Given the description of an element on the screen output the (x, y) to click on. 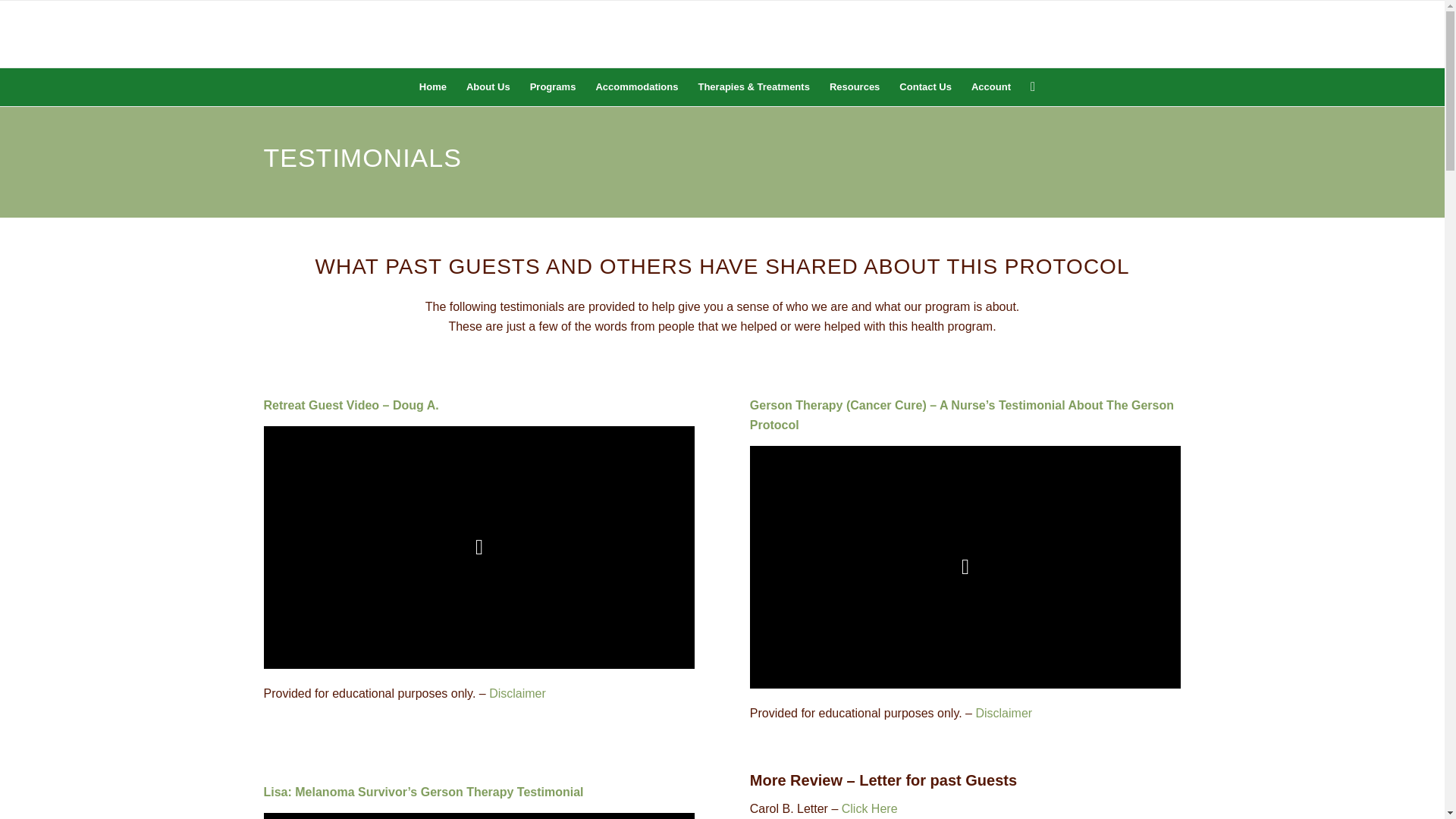
Contact Us (924, 86)
Resources (854, 86)
Home (433, 86)
Click Here (869, 808)
About Us (488, 86)
Accommodations (636, 86)
Programs (552, 86)
Disclaimer (1003, 712)
Account (990, 86)
Disclaimer (517, 693)
